Given the description of an element on the screen output the (x, y) to click on. 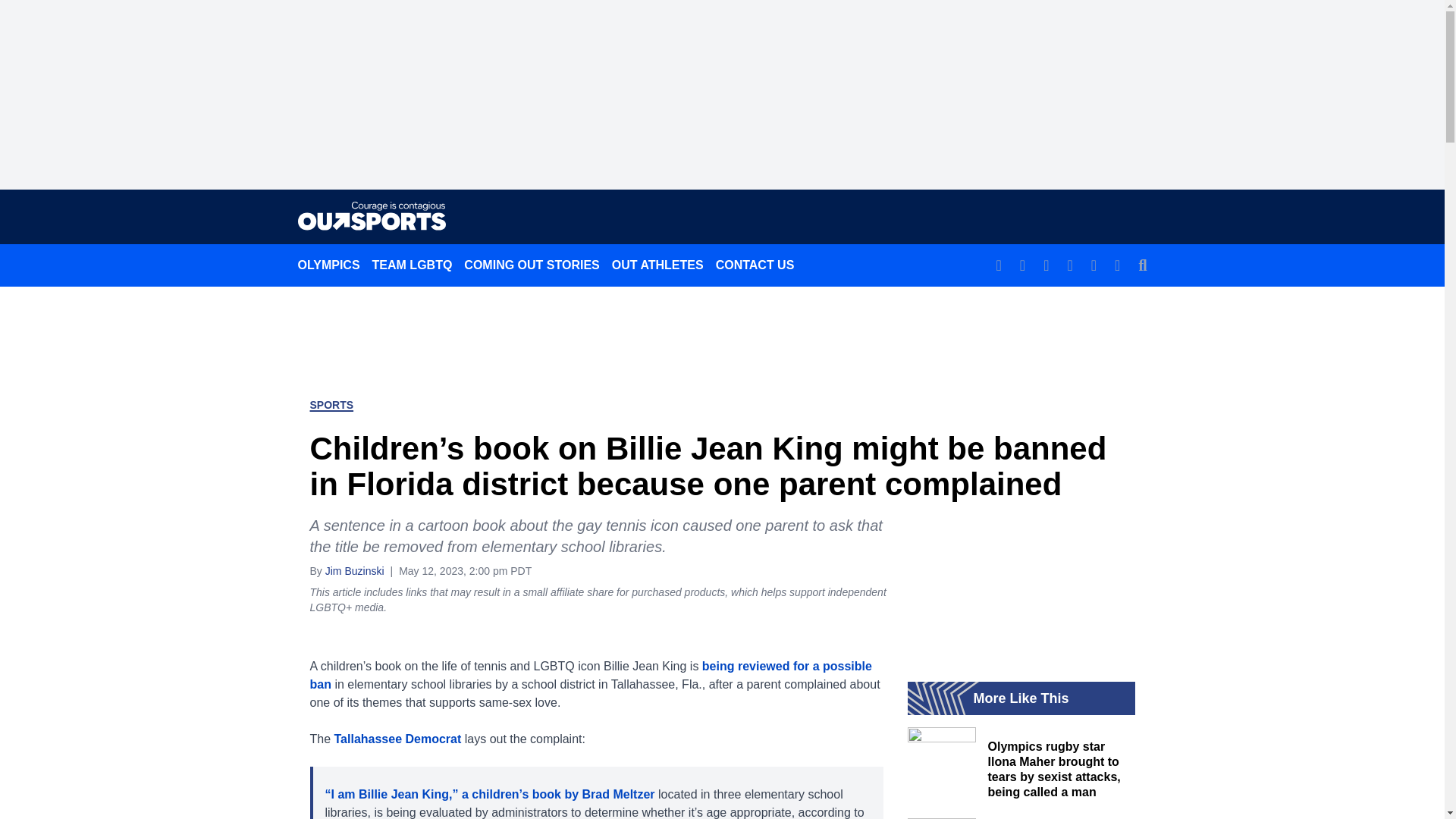
SPORTS (330, 404)
Tallahassee Democrat (397, 738)
CONTACT US (755, 265)
being reviewed for a possible ban (589, 675)
TEAM LGBTQ (412, 265)
OUT ATHLETES (657, 265)
OLYMPICS (328, 265)
Jim Buzinski (354, 570)
COMING OUT STORIES (531, 265)
